Given the description of an element on the screen output the (x, y) to click on. 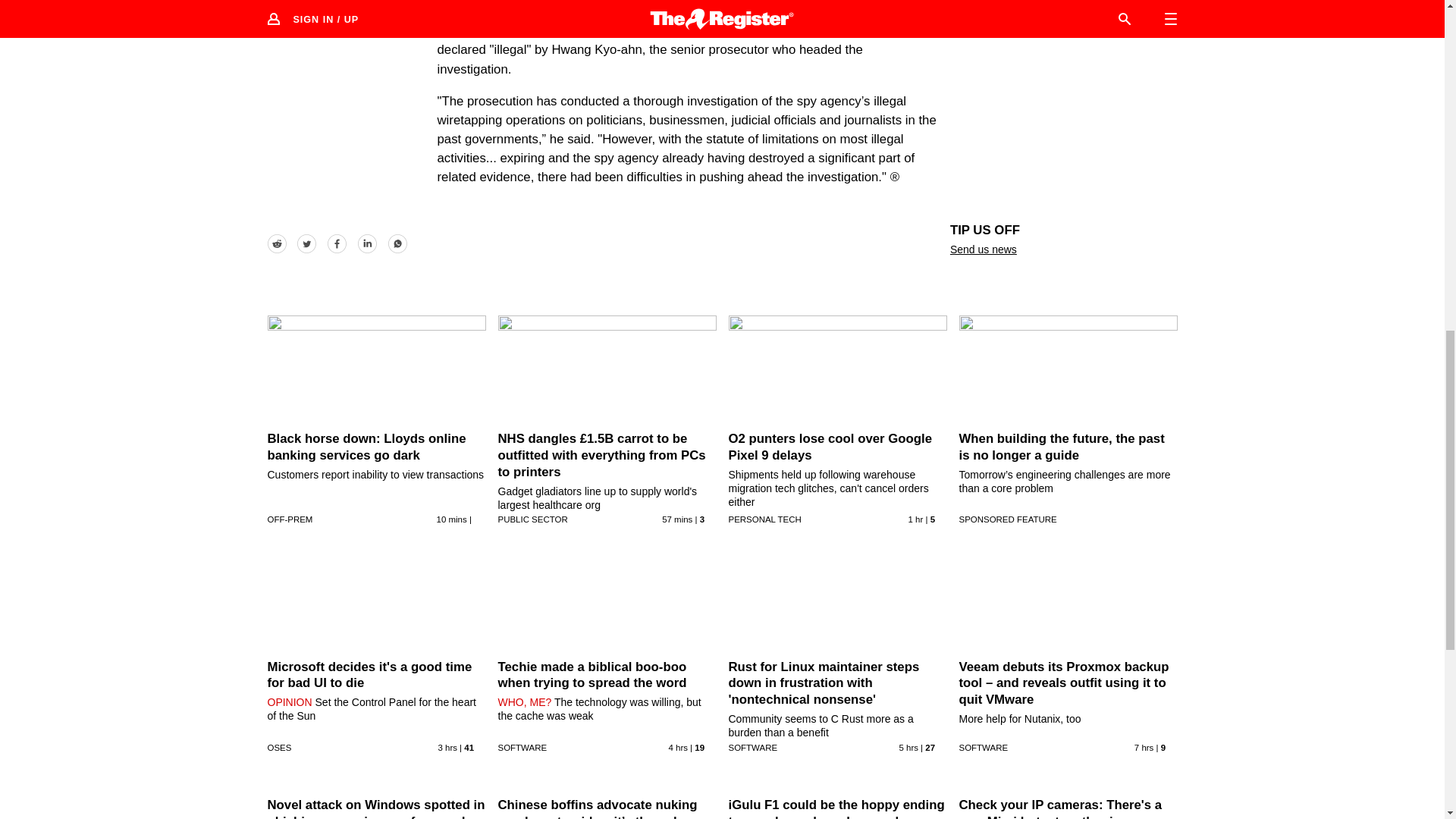
2 Sep 2024 8:30 (447, 747)
2 Sep 2024 9:45 (915, 519)
2 Sep 2024 6:26 (908, 747)
2 Sep 2024 10:34 (677, 519)
2 Sep 2024 11:21 (451, 519)
2 Sep 2024 4:29 (1144, 747)
2 Sep 2024 7:32 (677, 747)
